Given the description of an element on the screen output the (x, y) to click on. 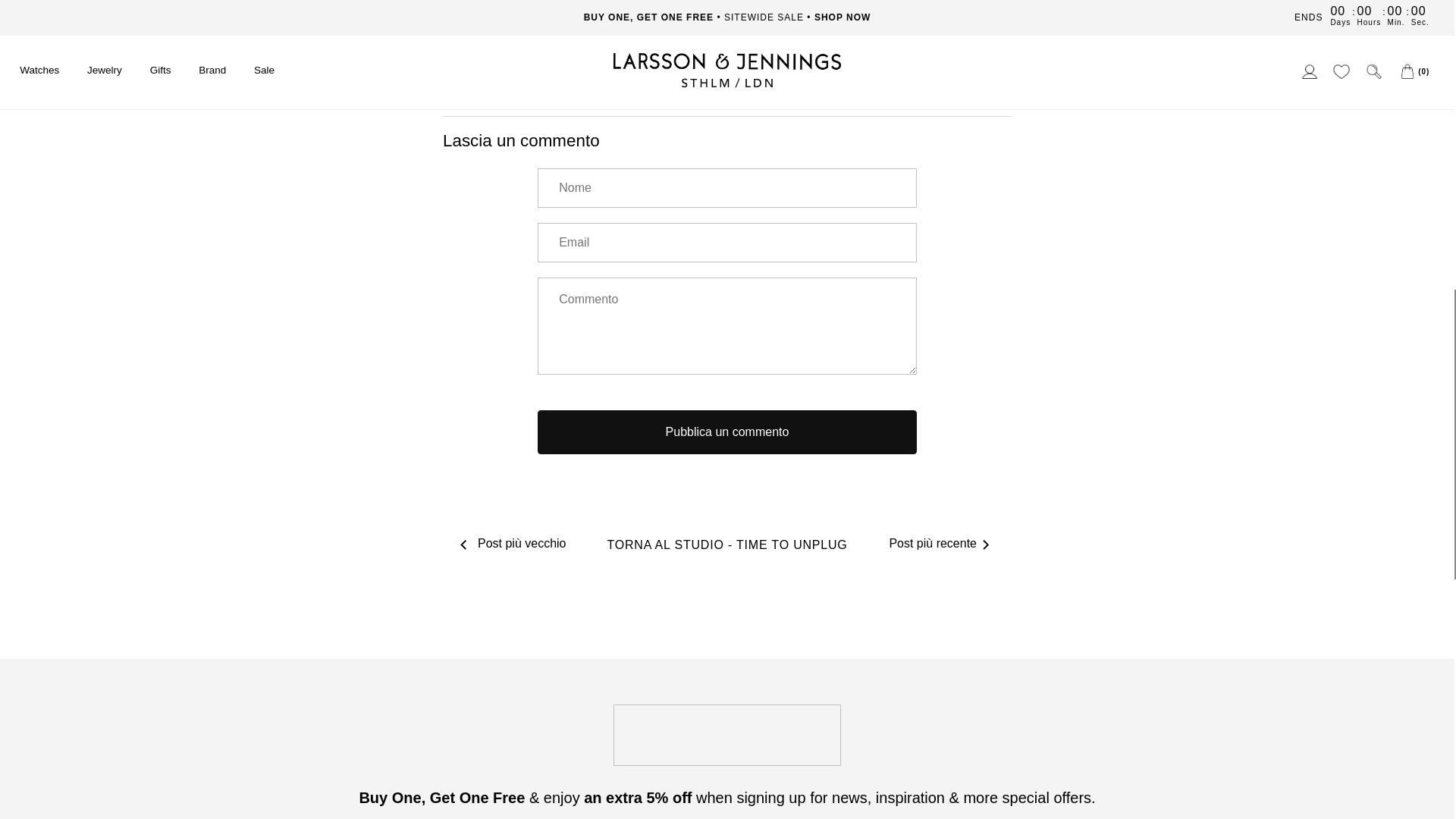
Pubblica un commento (727, 432)
Email this to a friend (601, 59)
